Given the description of an element on the screen output the (x, y) to click on. 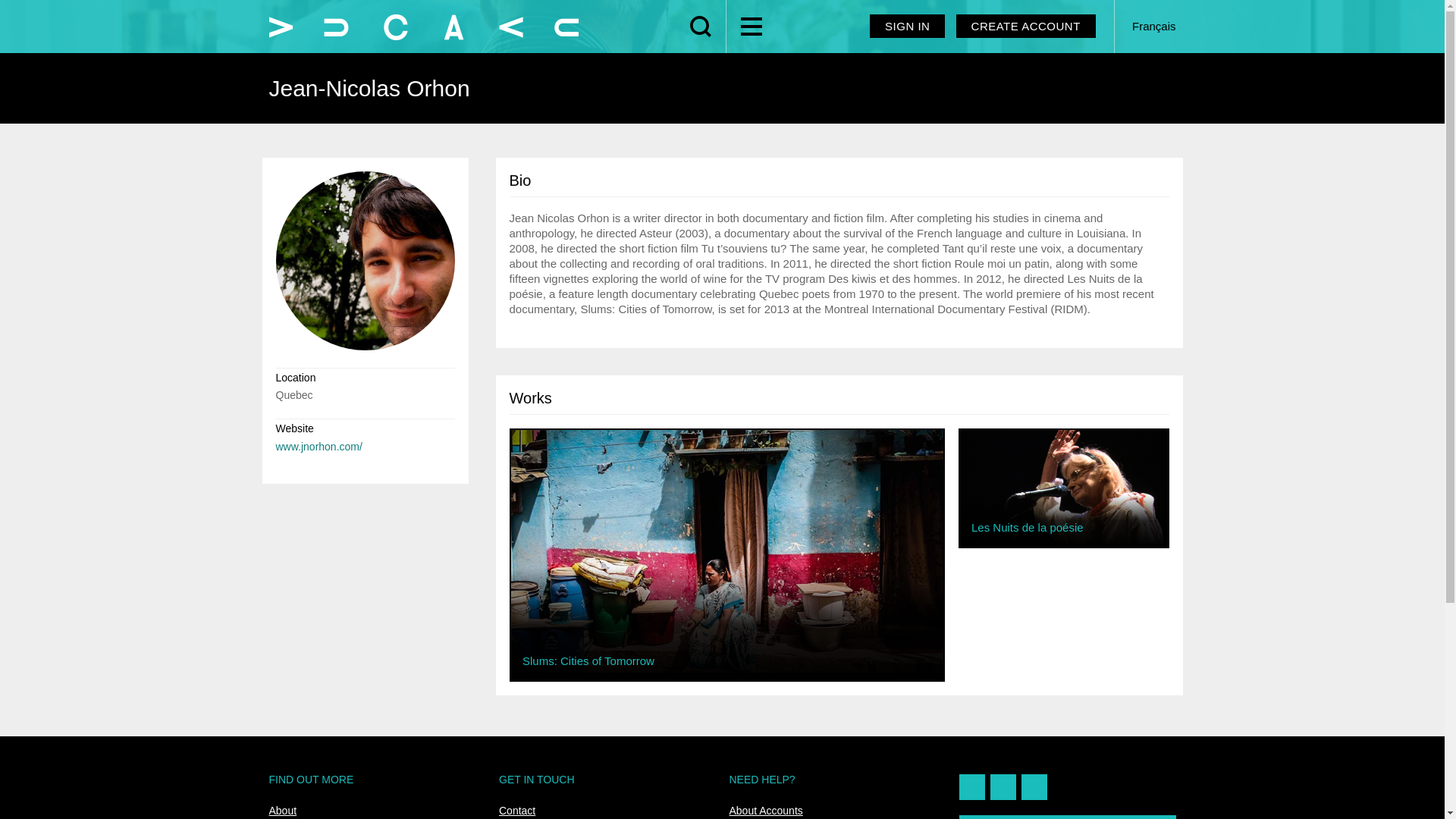
Slums: Cities of Tomorrow (727, 550)
This is the VUCAVU logo (422, 27)
Contact (517, 810)
CREATE ACCOUNT (1026, 25)
SIGN IN (906, 25)
About (282, 810)
